Given the description of an element on the screen output the (x, y) to click on. 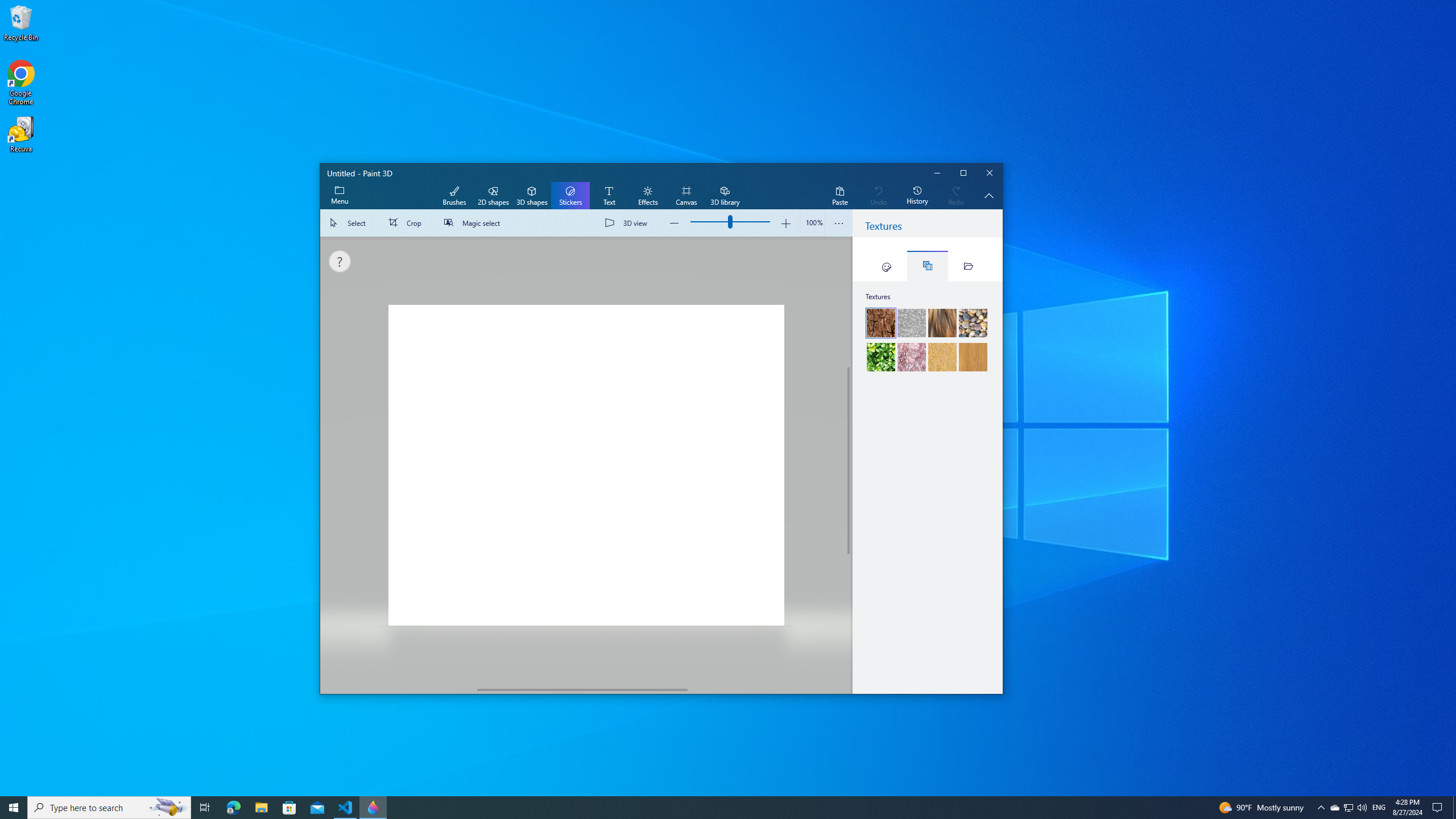
Redo (955, 195)
3D shapes (531, 195)
Marble (911, 357)
Sand (942, 357)
Undo (878, 195)
Paint 3D - 1 running window (373, 807)
Horizontal Large Decrease (398, 689)
Paste (840, 195)
2D shapes (492, 195)
Hedge (880, 357)
